Given the description of an element on the screen output the (x, y) to click on. 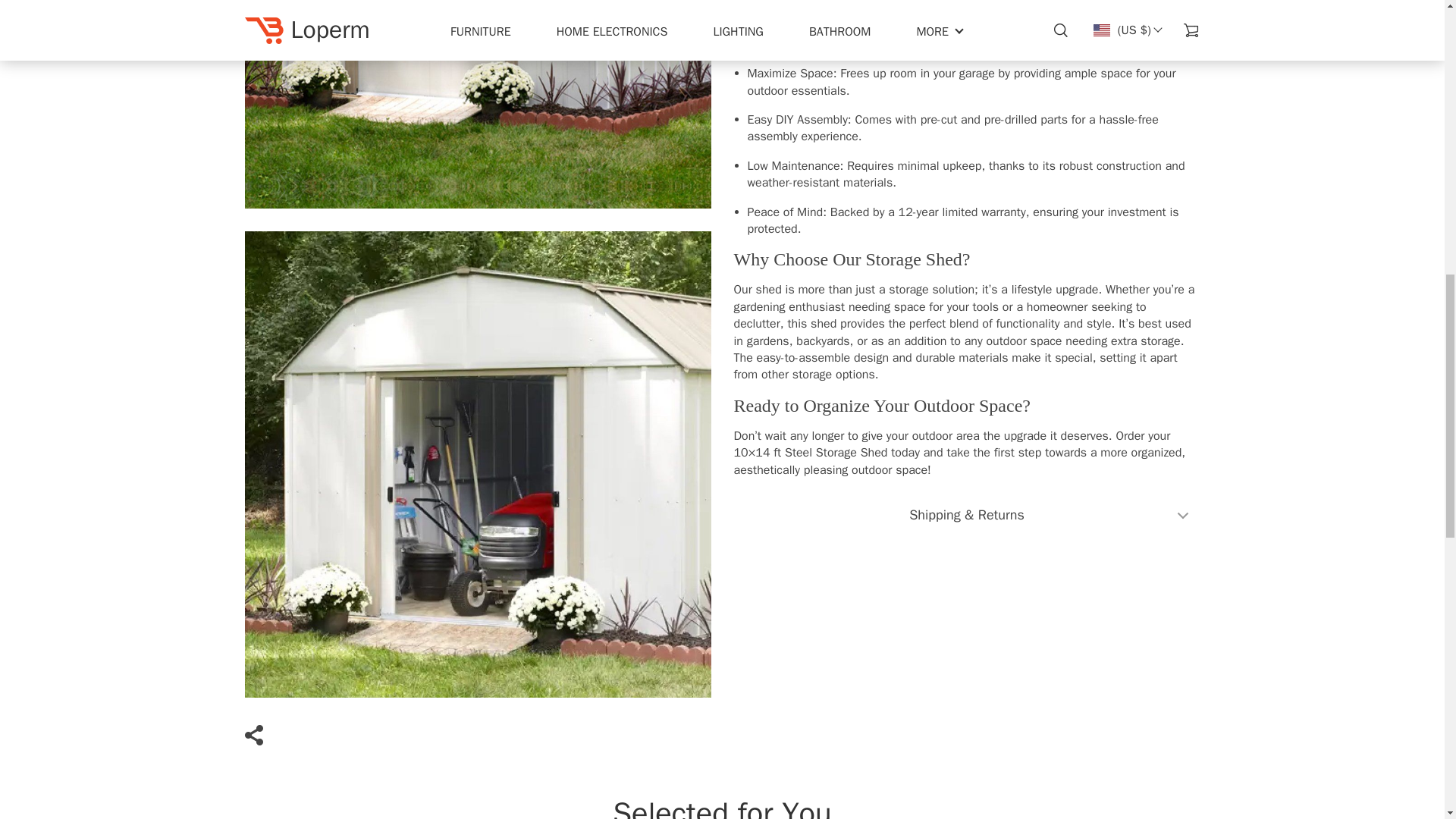
7780-ff5693.jpg (477, 104)
